Given the description of an element on the screen output the (x, y) to click on. 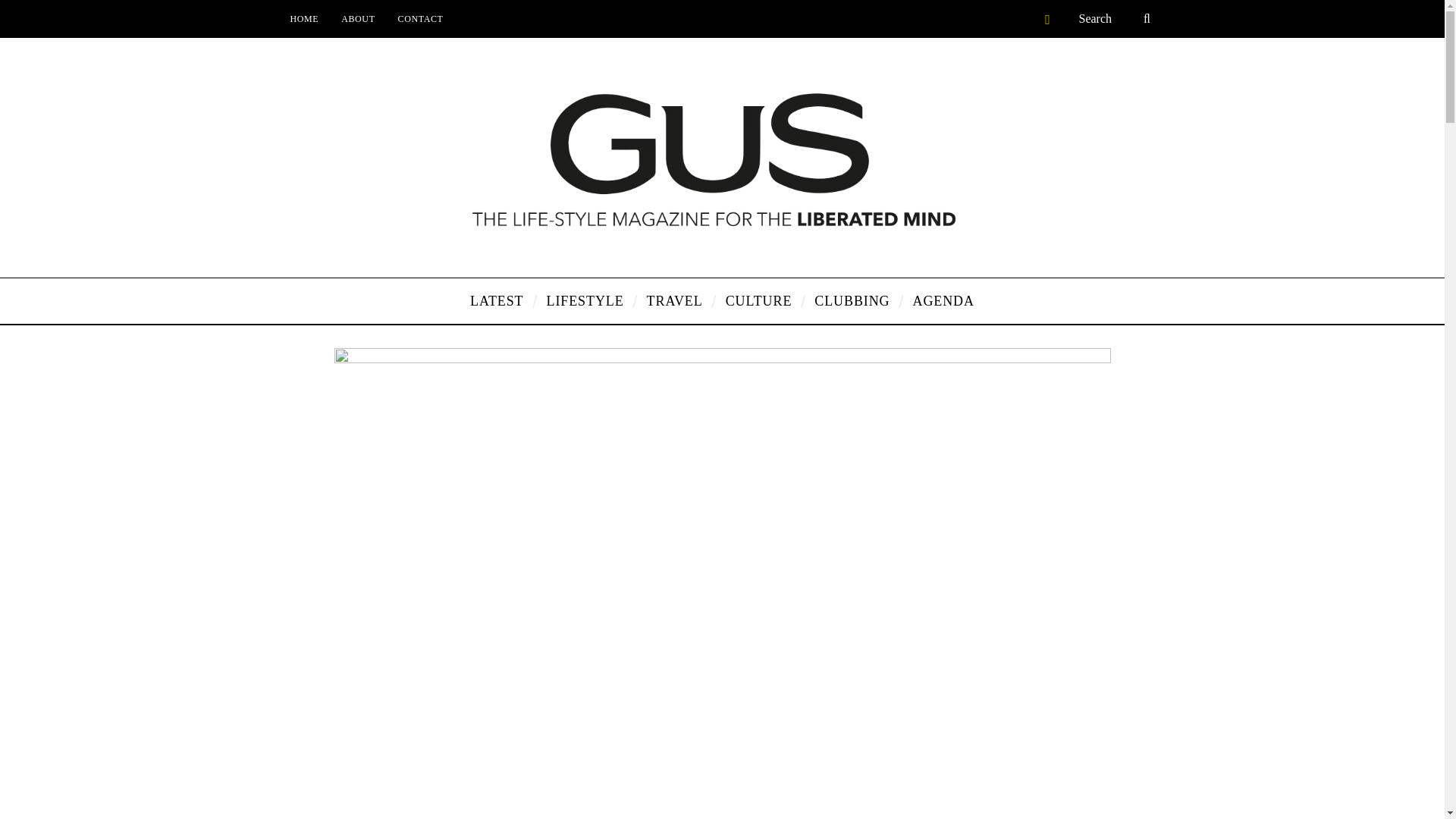
Search (1116, 18)
ABOUT (357, 18)
CONTACT (420, 18)
HOME (304, 18)
